Given the description of an element on the screen output the (x, y) to click on. 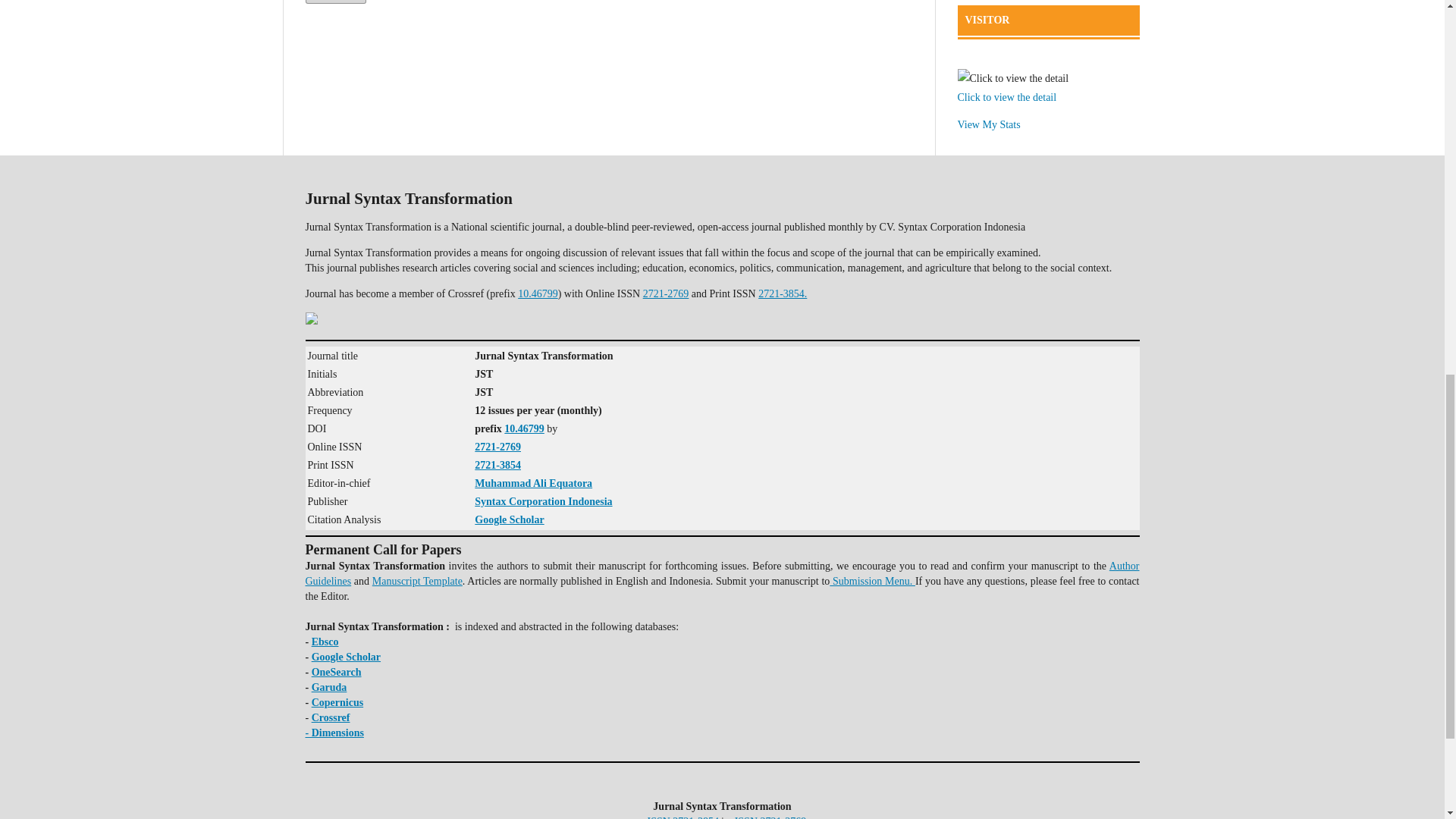
Register (334, 2)
Click to view the detail (1006, 97)
